Given the description of an element on the screen output the (x, y) to click on. 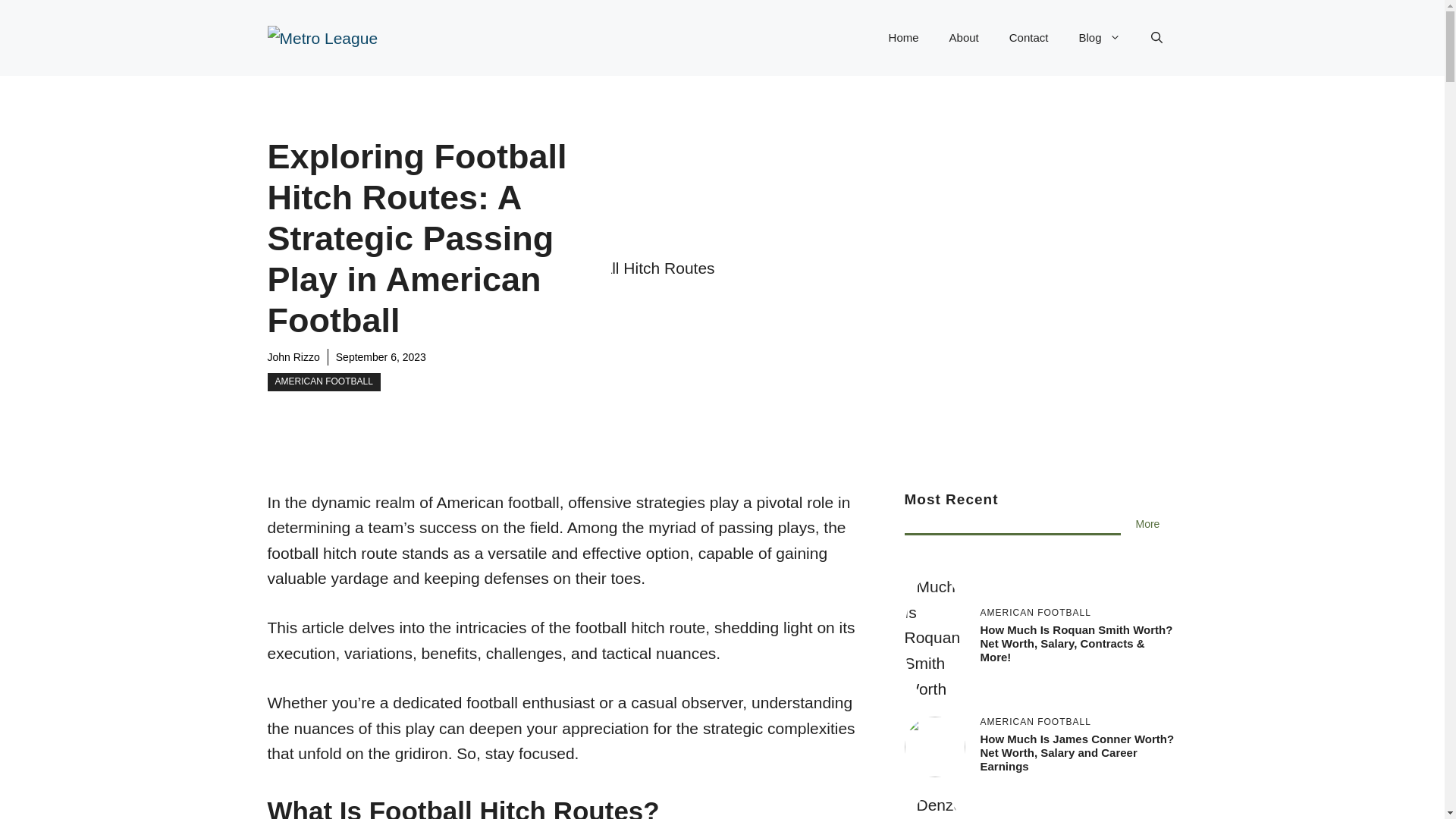
Home (903, 37)
More (1147, 523)
Blog (1098, 37)
AMERICAN FOOTBALL (323, 381)
Contact (1029, 37)
About (964, 37)
John Rizzo (292, 357)
